Given the description of an element on the screen output the (x, y) to click on. 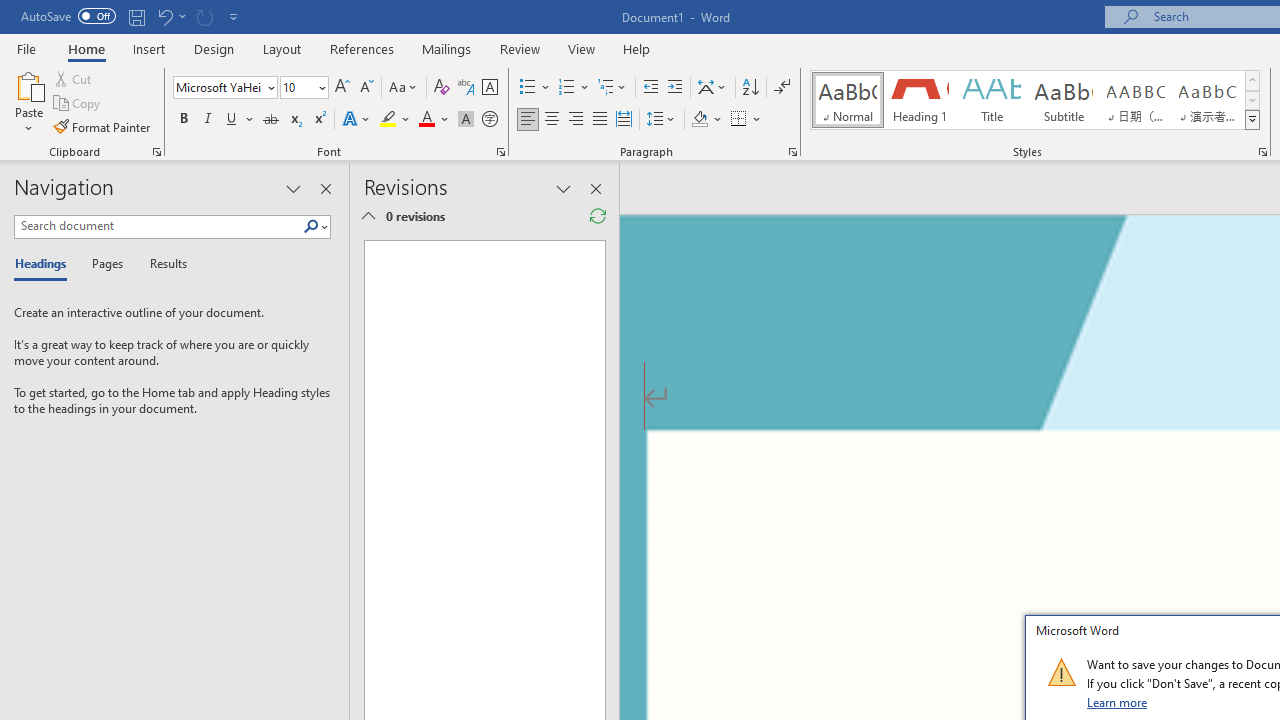
Refresh Reviewing Pane (597, 215)
Task Pane Options (293, 188)
Open (320, 87)
Row up (1252, 79)
Borders (746, 119)
Font... (500, 151)
Results (161, 264)
View (582, 48)
Headings (45, 264)
Format Painter (103, 126)
Borders (739, 119)
Numbering (566, 87)
Insert (149, 48)
